Given the description of an element on the screen output the (x, y) to click on. 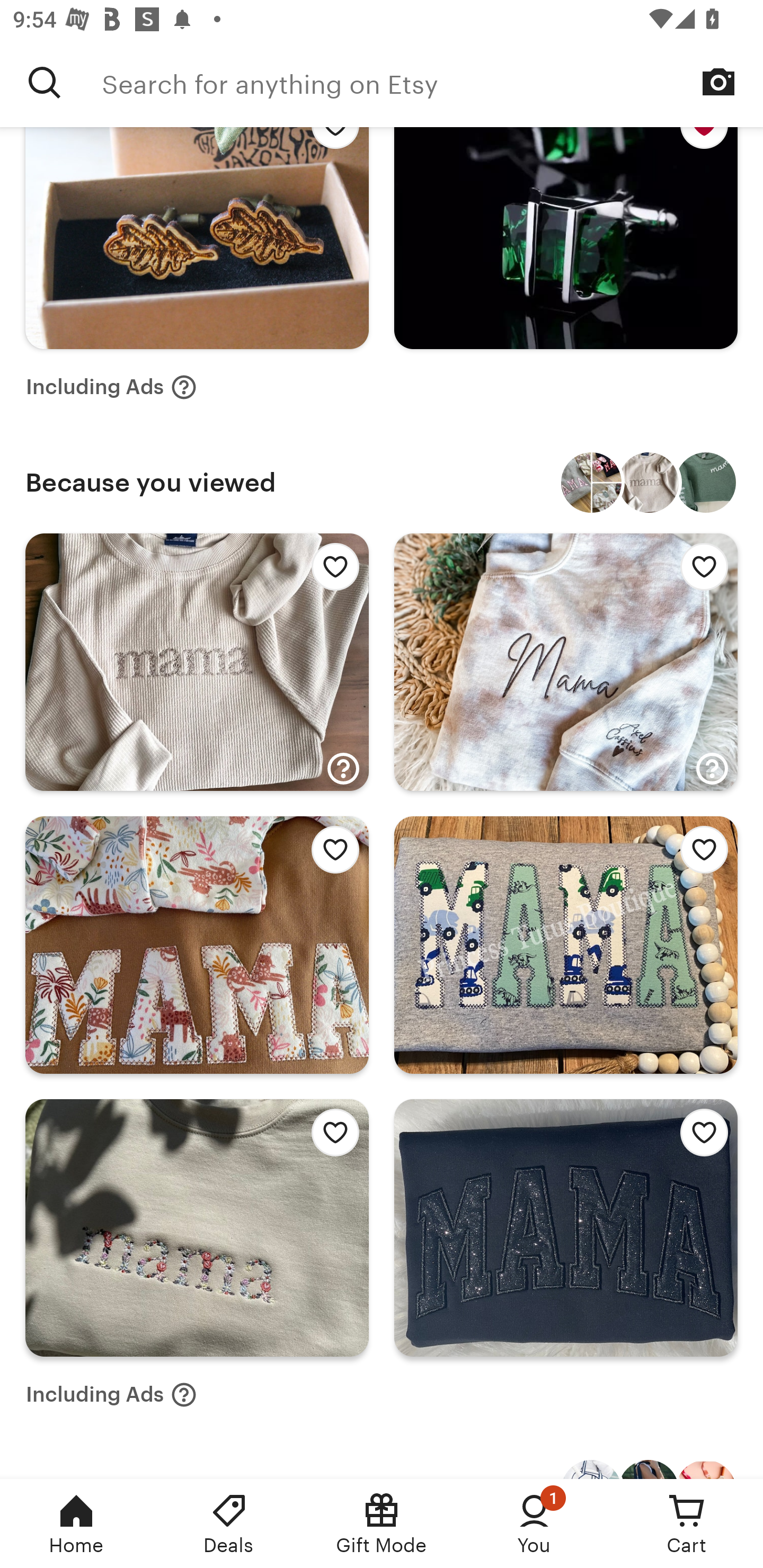
Search for anything on Etsy (44, 82)
Search by image (718, 81)
Search for anything on Etsy (432, 82)
Including Ads (111, 386)
Including Ads (111, 1394)
Deals (228, 1523)
Gift Mode (381, 1523)
You, 1 new notification You (533, 1523)
Cart (686, 1523)
